Given the description of an element on the screen output the (x, y) to click on. 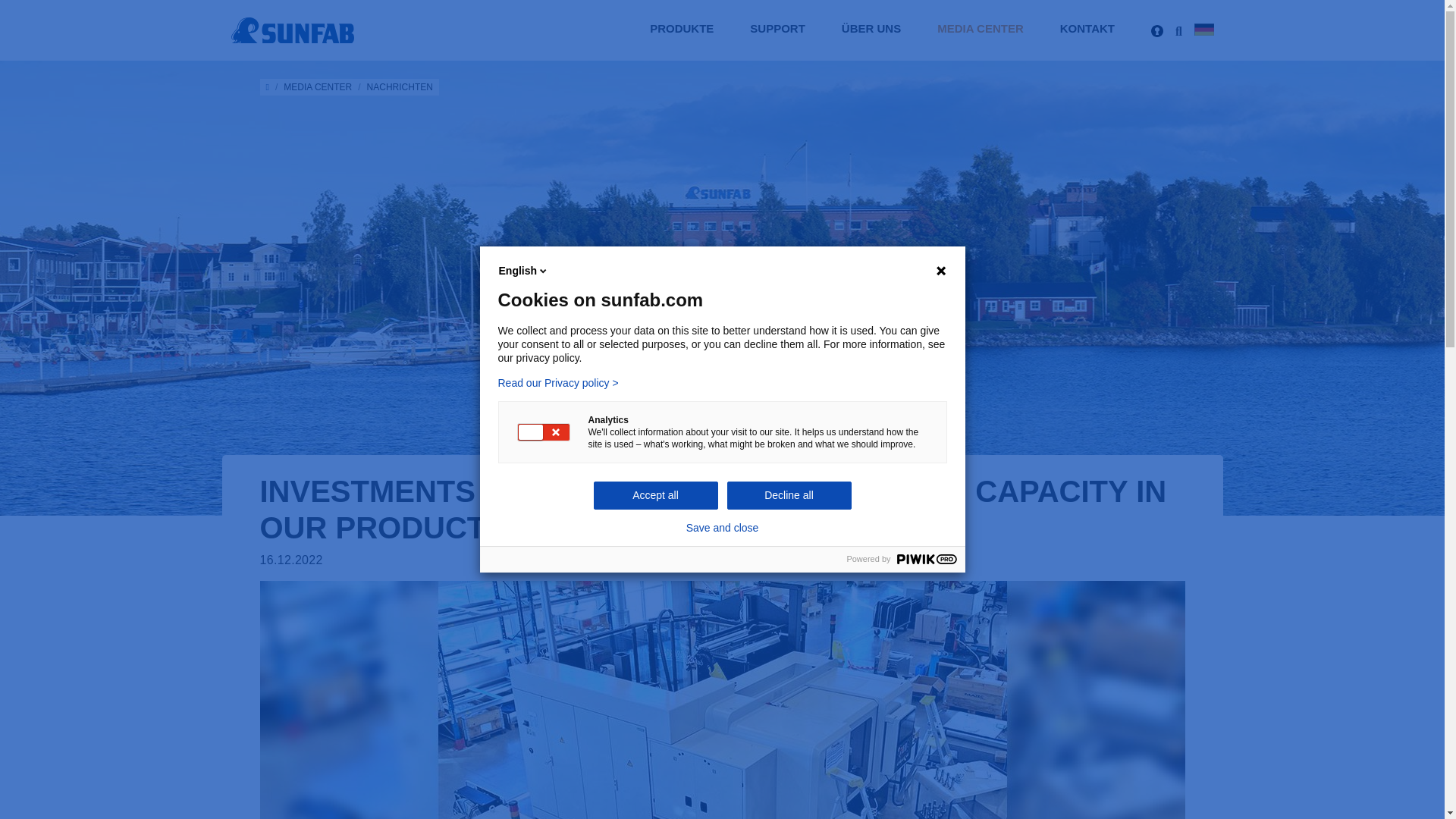
SUPPORT (777, 29)
PRODUKTE (681, 29)
